Given the description of an element on the screen output the (x, y) to click on. 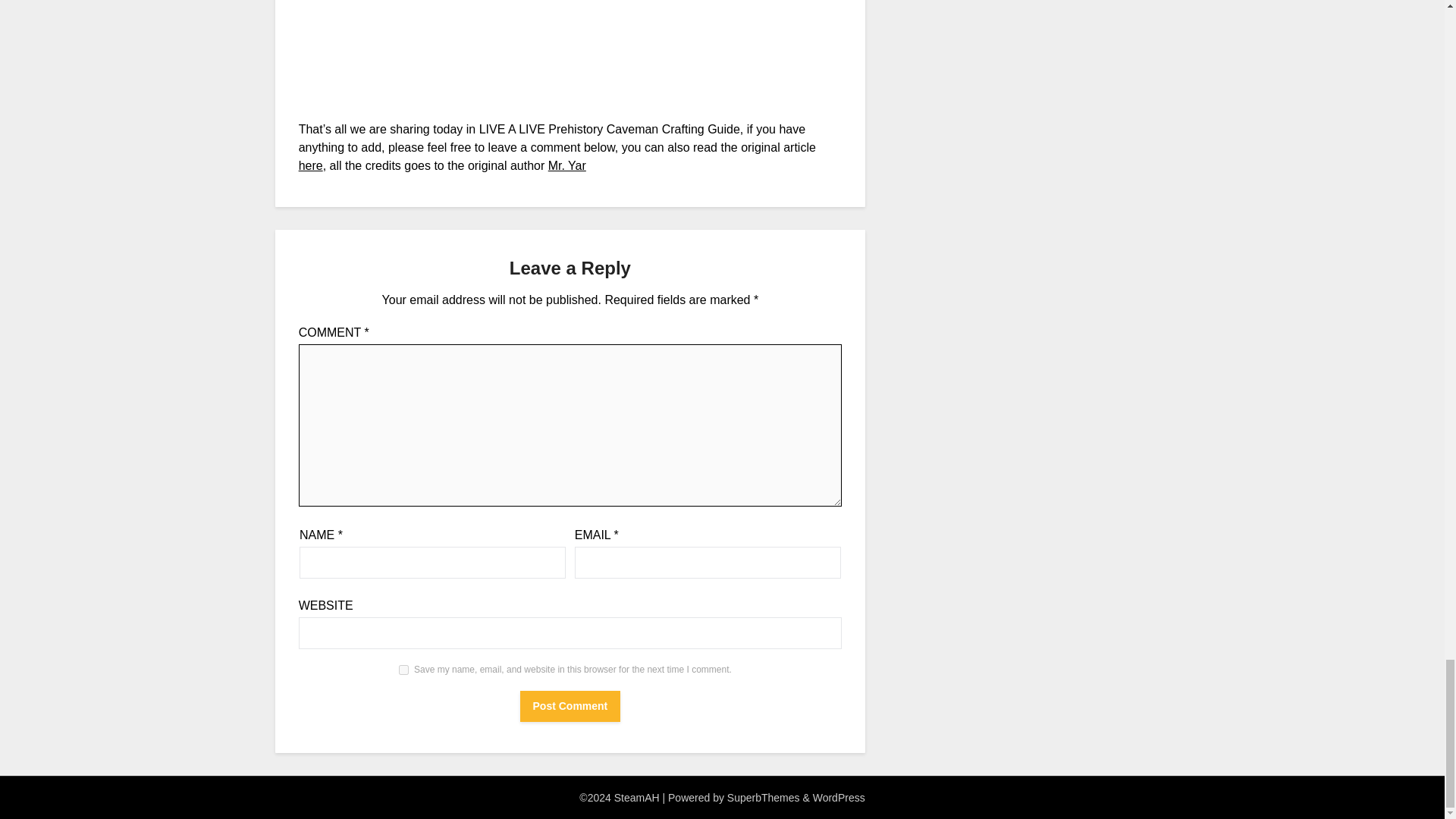
SuperbThemes (762, 797)
yes (403, 669)
Post Comment (570, 706)
here (310, 164)
Post Comment (570, 706)
Mr. Yar (567, 164)
